Given the description of an element on the screen output the (x, y) to click on. 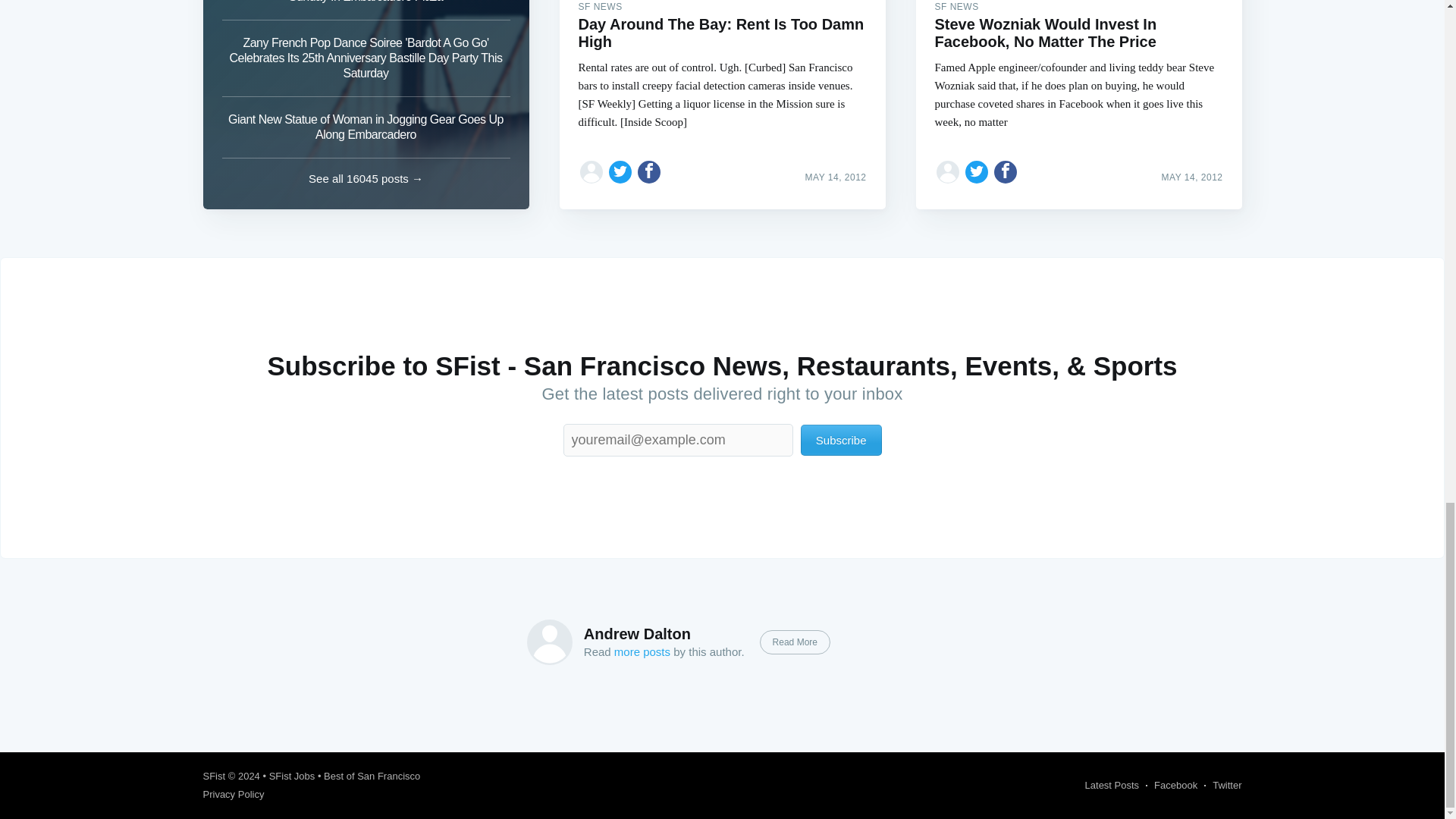
Share on Facebook (649, 171)
Share on Facebook (1004, 171)
Share on Twitter (976, 171)
Share on Twitter (620, 171)
